Given the description of an element on the screen output the (x, y) to click on. 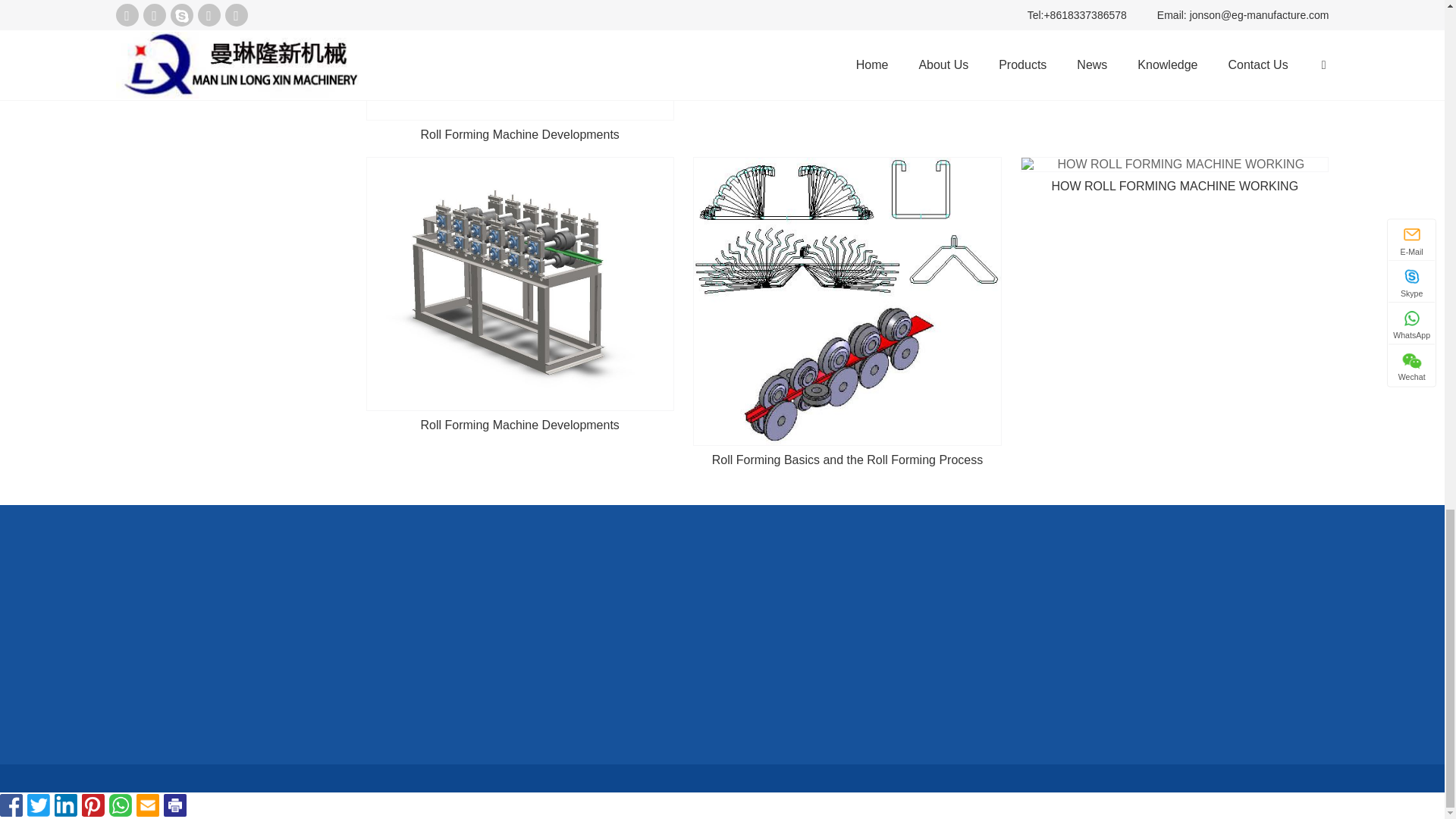
Email (147, 804)
Linkedin (66, 804)
Twitter (38, 804)
Print (174, 804)
Pinterest (92, 804)
Whatsapp (120, 804)
Facebook (11, 804)
